Given the description of an element on the screen output the (x, y) to click on. 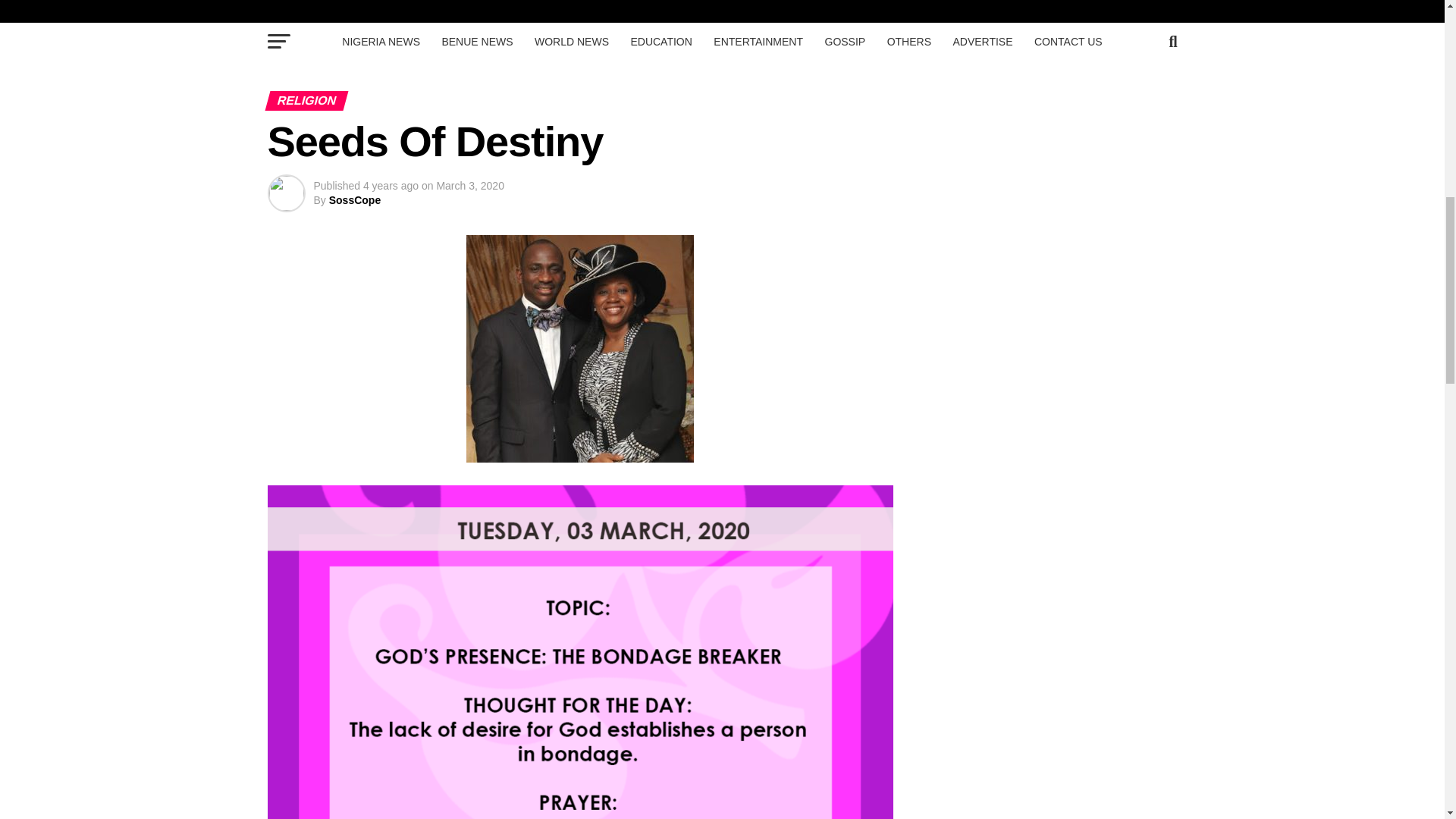
WORLD NEWS (571, 41)
NIGERIA NEWS (381, 41)
BENUE NEWS (476, 41)
EDUCATION (660, 41)
